Given the description of an element on the screen output the (x, y) to click on. 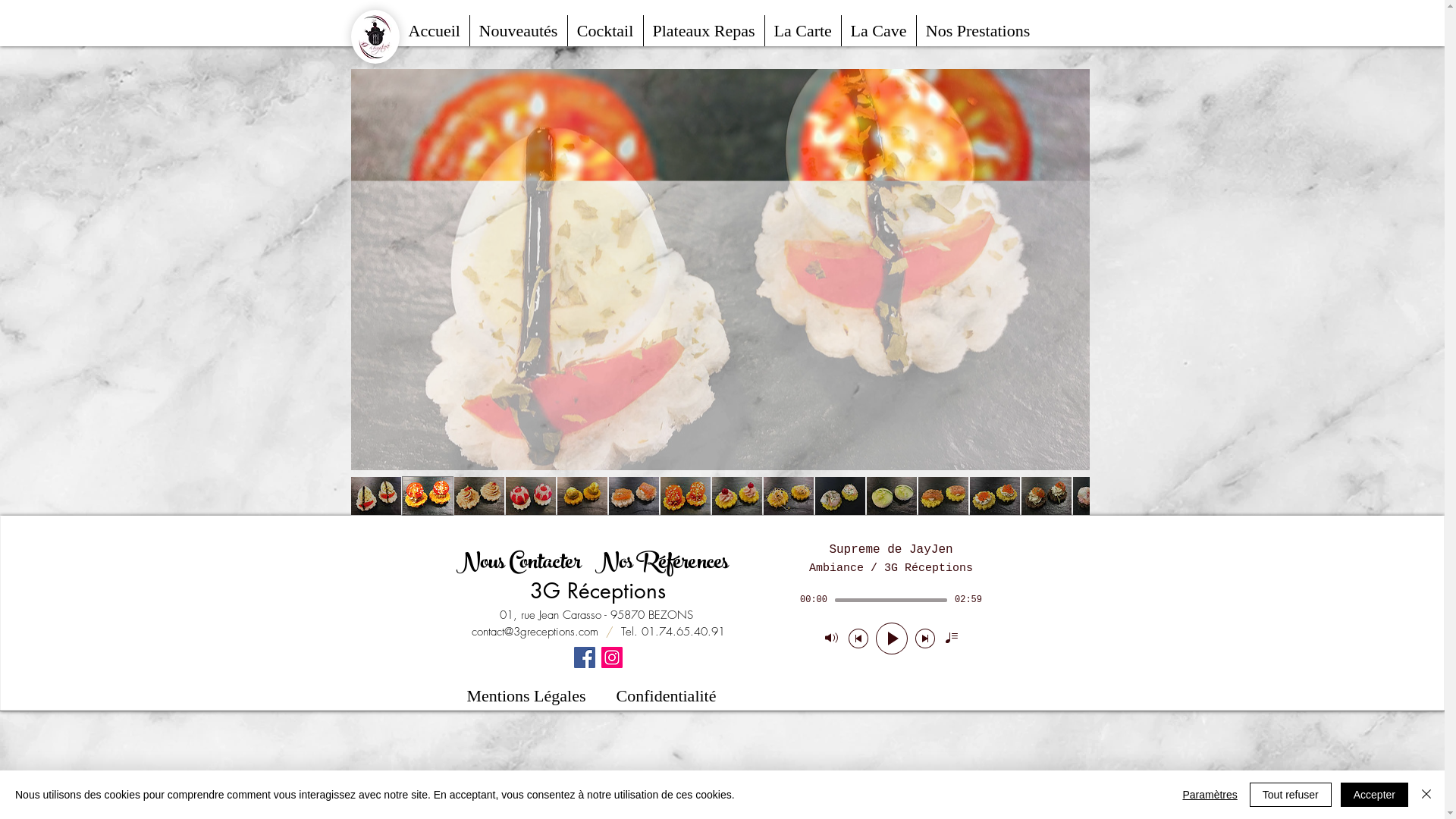
Accepter Element type: text (1374, 794)
Plateaux Repas Element type: text (703, 30)
Tout refuser Element type: text (1290, 794)
Accueil Element type: text (433, 30)
contact@3greceptions.com Element type: text (534, 631)
Nos Prestations Element type: text (977, 30)
La Cave Element type: text (878, 30)
Cocktail Element type: text (604, 30)
Nous Contacter Element type: text (518, 564)
La Carte Element type: text (802, 30)
Wix Music Element type: hover (890, 602)
